Given the description of an element on the screen output the (x, y) to click on. 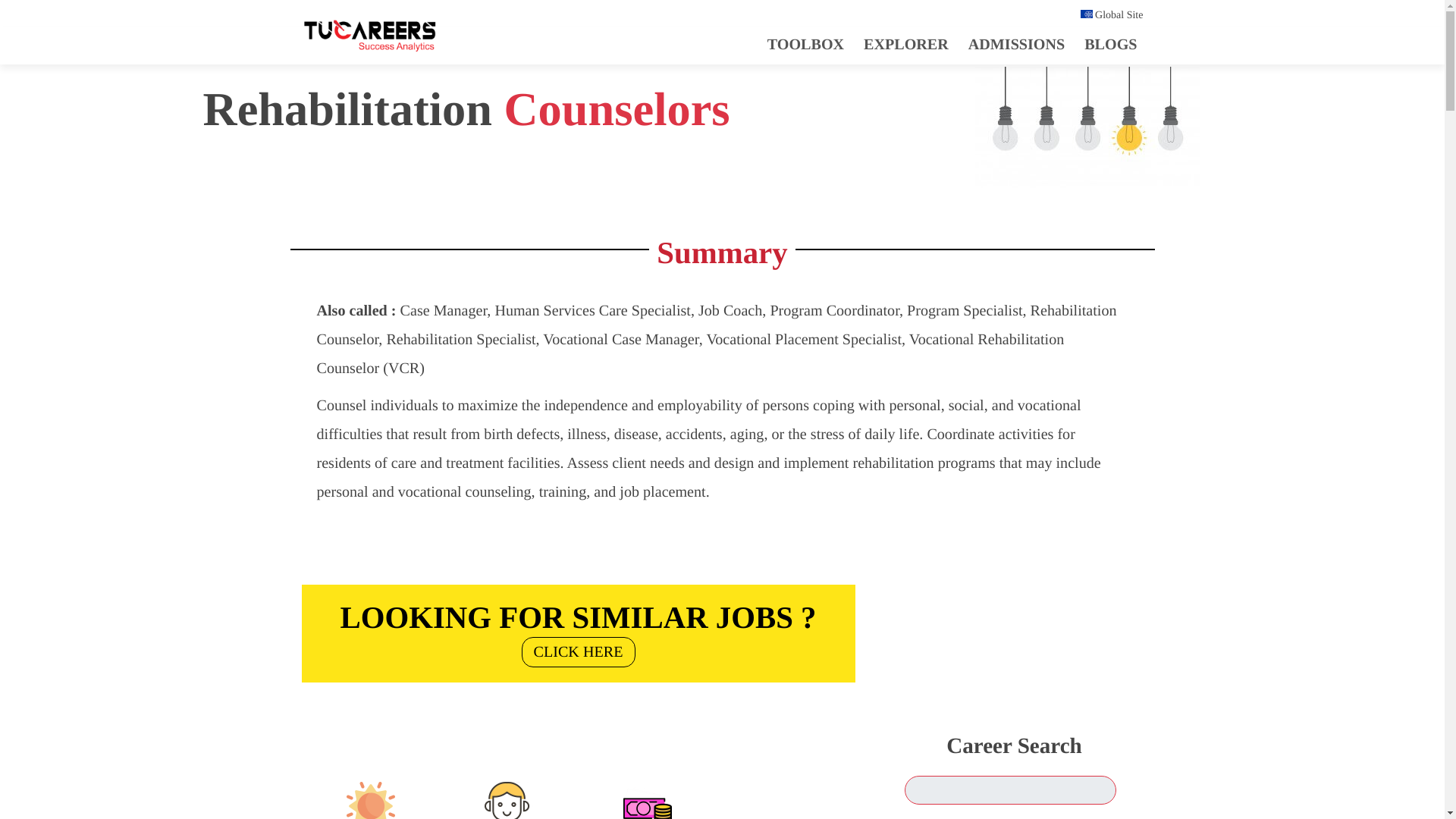
Embedded video for 21-1015.00-Rehabilitation Counselors (1009, 621)
EXPLORER (906, 44)
Home (369, 39)
ADMISSIONS (578, 629)
BLOGS (1016, 44)
TOOLBOX (578, 629)
Skip to main content (1110, 44)
